Given the description of an element on the screen output the (x, y) to click on. 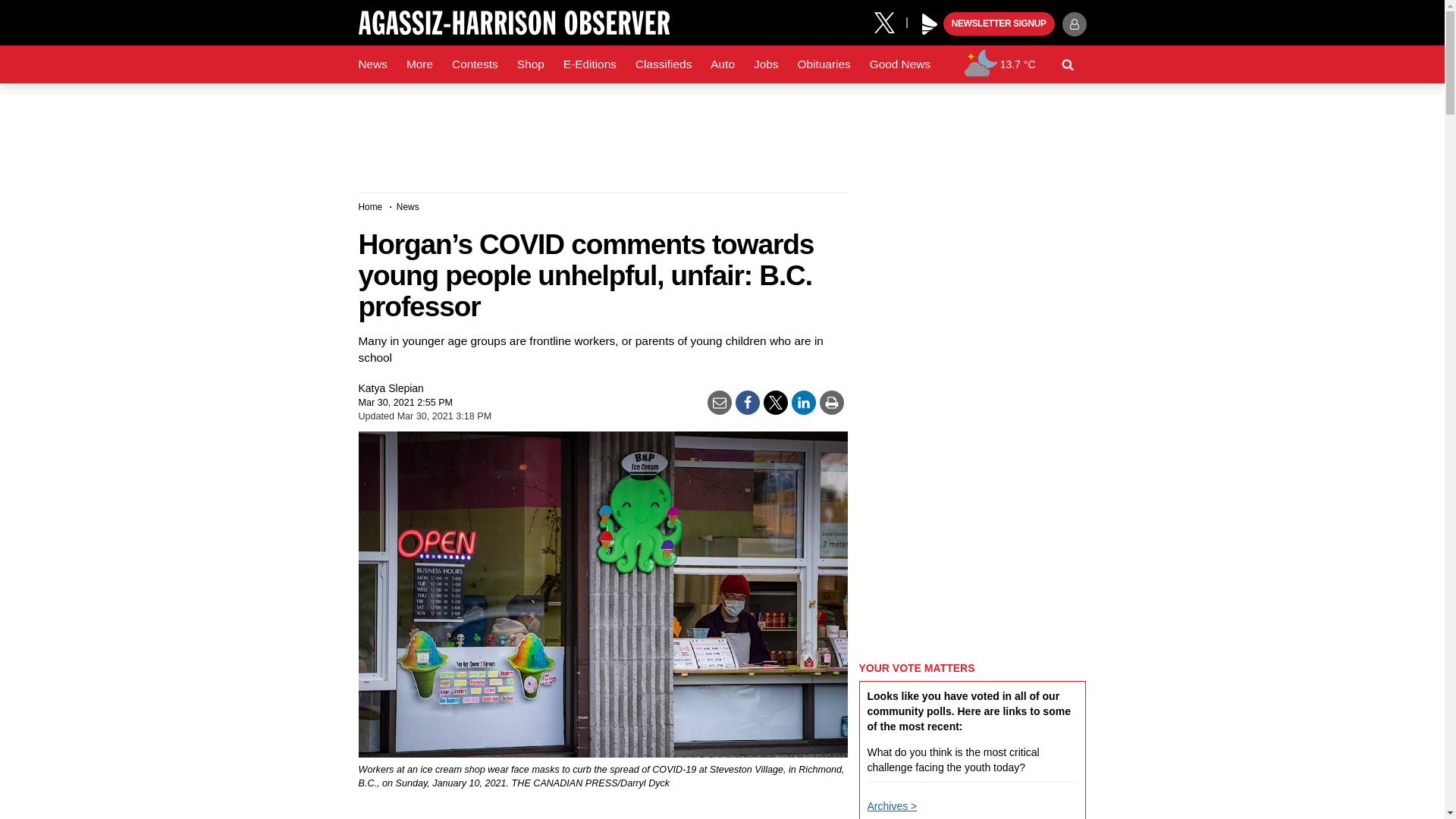
Play (929, 24)
X (889, 21)
3rd party ad content (721, 131)
News (372, 64)
Black Press Media (929, 24)
NEWSLETTER SIGNUP (998, 24)
